Given the description of an element on the screen output the (x, y) to click on. 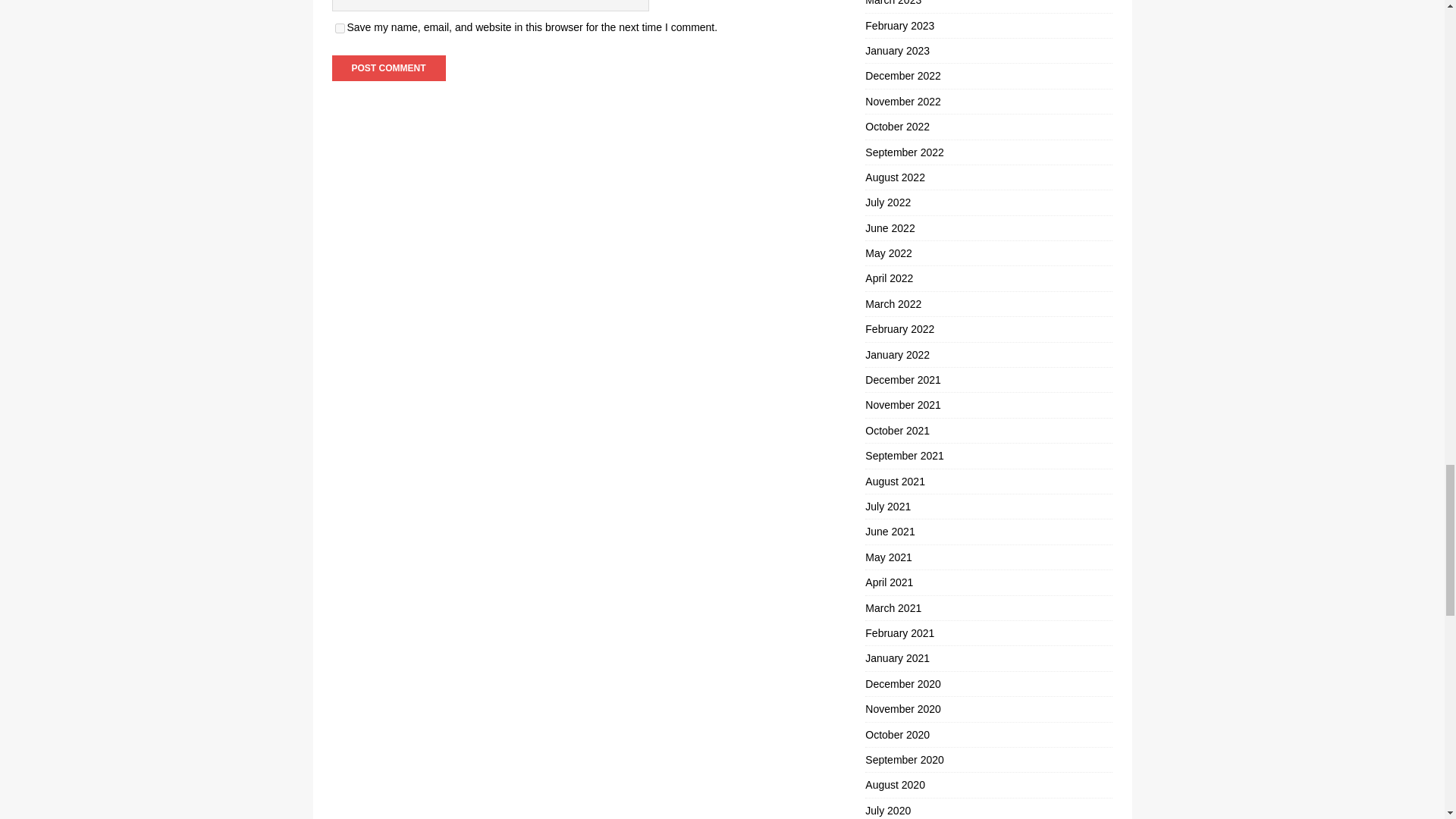
yes (339, 28)
Post Comment (388, 68)
